Given the description of an element on the screen output the (x, y) to click on. 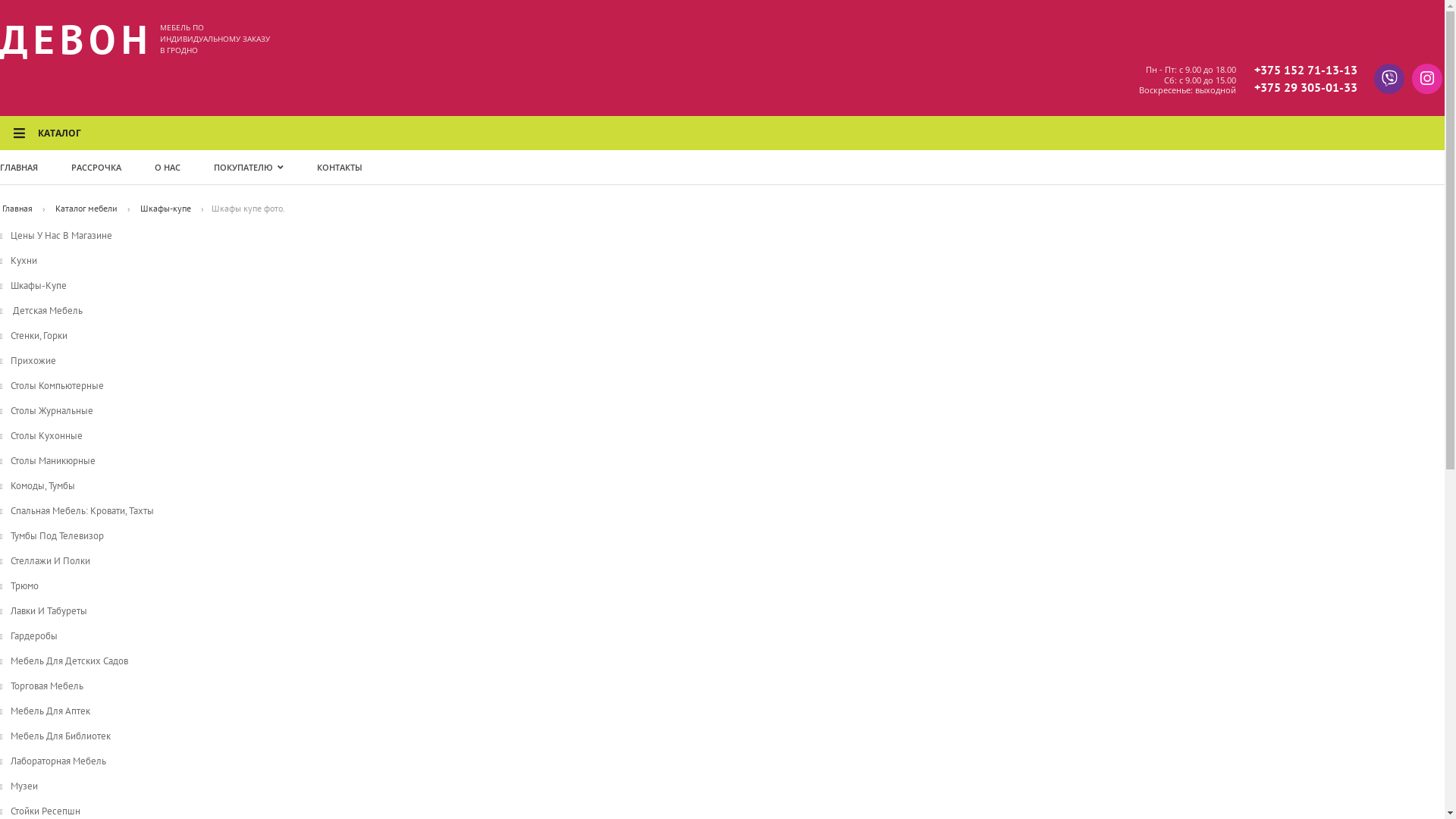
+375 152 71-13-13 Element type: text (1305, 70)
+375 29 305-01-33 Element type: text (1305, 87)
